Given the description of an element on the screen output the (x, y) to click on. 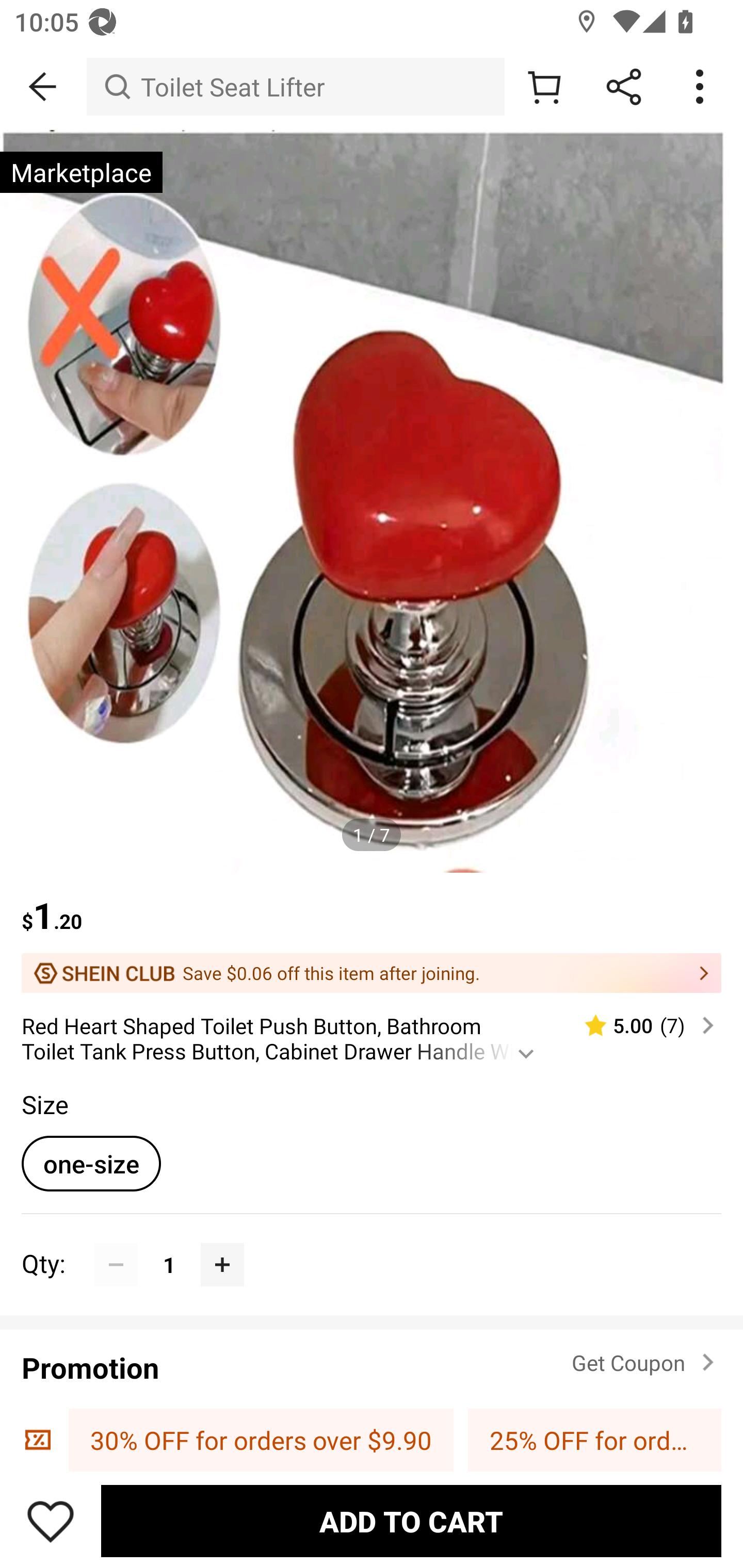
BACK (43, 86)
Toilet Seat Lifter (295, 87)
PHOTOS Marketplace 1 / 7 (371, 501)
1 / 7 (371, 834)
$1.20 Save $0.06 off this item after joining. (371, 932)
Save $0.06 off this item after joining. (371, 972)
5.00 (7) (640, 1025)
Size (44, 1103)
one-size one-sizeselected option (91, 1163)
ADD TO CART (411, 1520)
Save (50, 1520)
